Given the description of an element on the screen output the (x, y) to click on. 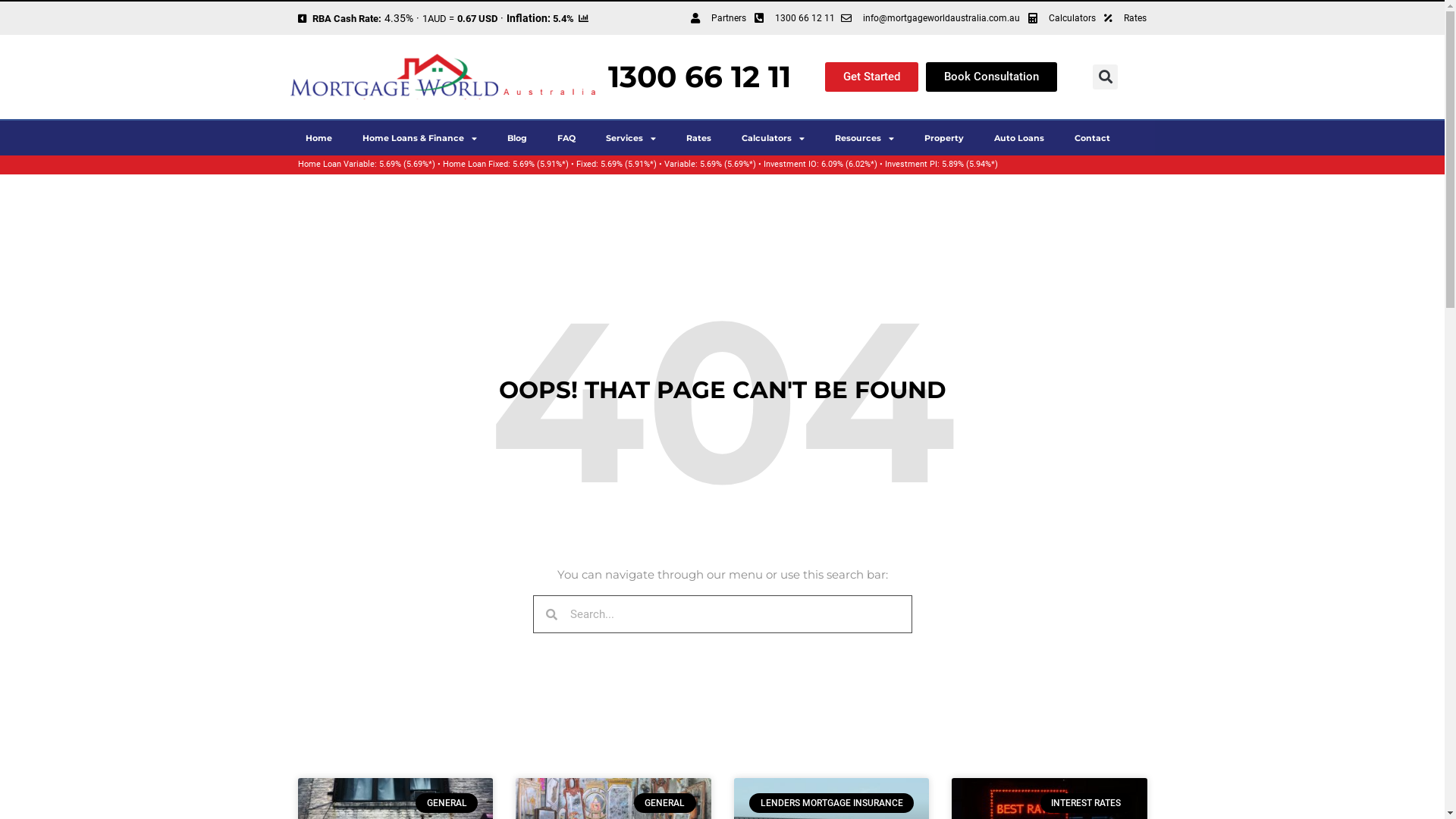
Auto Loans Element type: text (1018, 137)
6.09% (6.02%*) Element type: text (848, 164)
Services Element type: text (629, 137)
1300 66 12 11 Element type: text (699, 75)
Rates Element type: text (1123, 18)
Partners Element type: text (716, 18)
Book Consultation Element type: text (991, 76)
5.89% (5.94%*) Element type: text (969, 164)
Resources Element type: text (863, 137)
5.4% Element type: text (562, 18)
1300 66 12 11 Element type: text (791, 18)
Blog Element type: text (516, 137)
Get Started Element type: text (871, 76)
5.69% (5.91%*) Element type: text (540, 164)
5.69% (5.69%*) Element type: text (407, 164)
Property Element type: text (943, 137)
5.69% (5.69%*) Element type: text (727, 164)
PREVIOUS PAGE Element type: hover (301, 17)
FAQ Element type: text (565, 137)
Home Loans & Finance Element type: text (419, 137)
Calculators Element type: text (1059, 18)
info@mortgageworldaustralia.com.au Element type: text (929, 18)
Calculators Element type: text (772, 137)
Rates Element type: text (697, 137)
4.35 Element type: text (393, 18)
Home Element type: text (317, 137)
Contact Element type: text (1091, 137)
5.69% (5.91%*) Element type: text (628, 164)
